Given the description of an element on the screen output the (x, y) to click on. 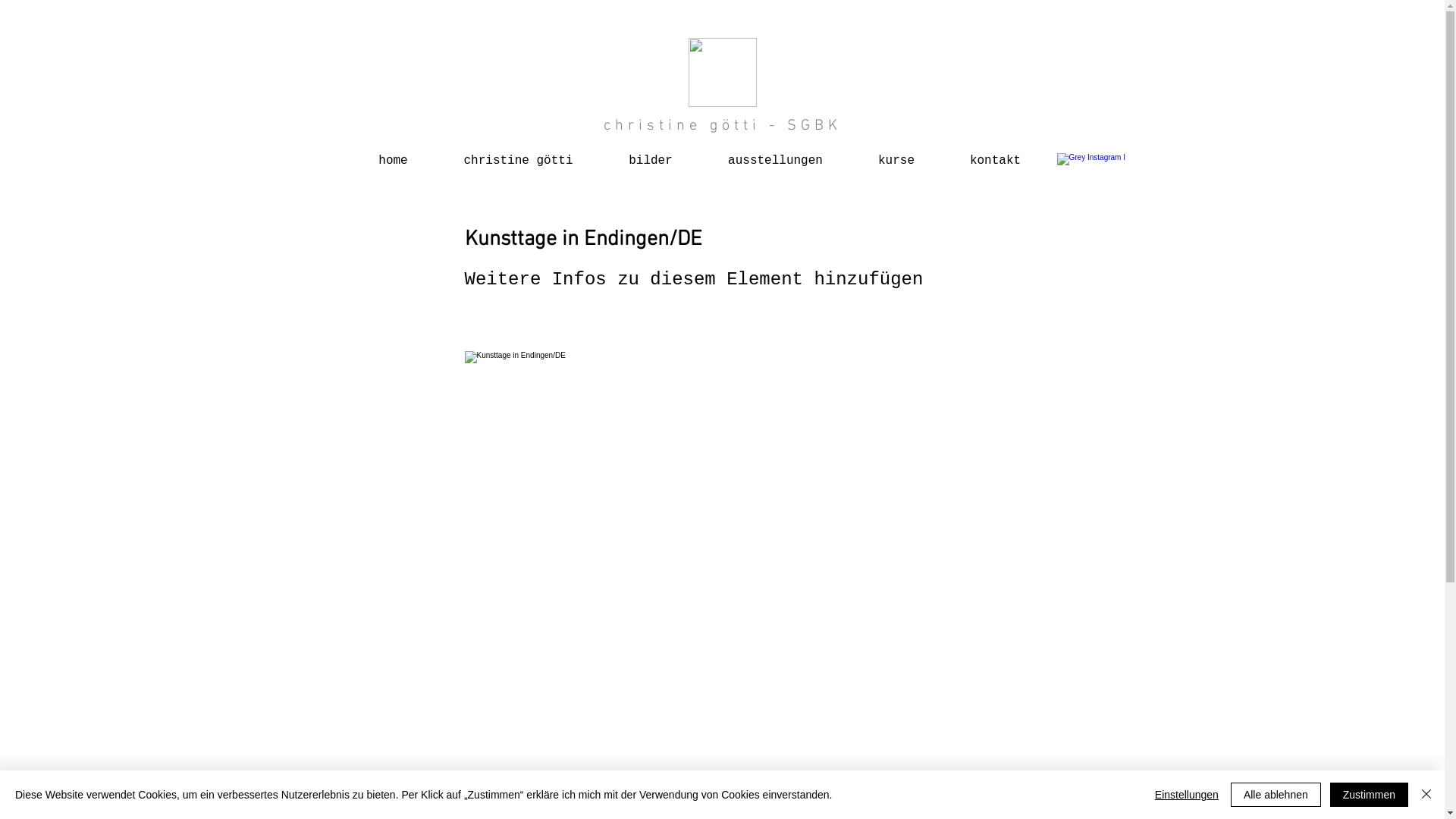
kontakt Element type: text (994, 154)
Zustimmen Element type: text (1369, 794)
ausstellungen Element type: text (775, 154)
Kunsttage in Endingen/DE Element type: hover (721, 497)
bilder Element type: text (649, 154)
Alle ablehnen Element type: text (1275, 794)
home Element type: text (392, 154)
kurse Element type: text (896, 154)
